Given the description of an element on the screen output the (x, y) to click on. 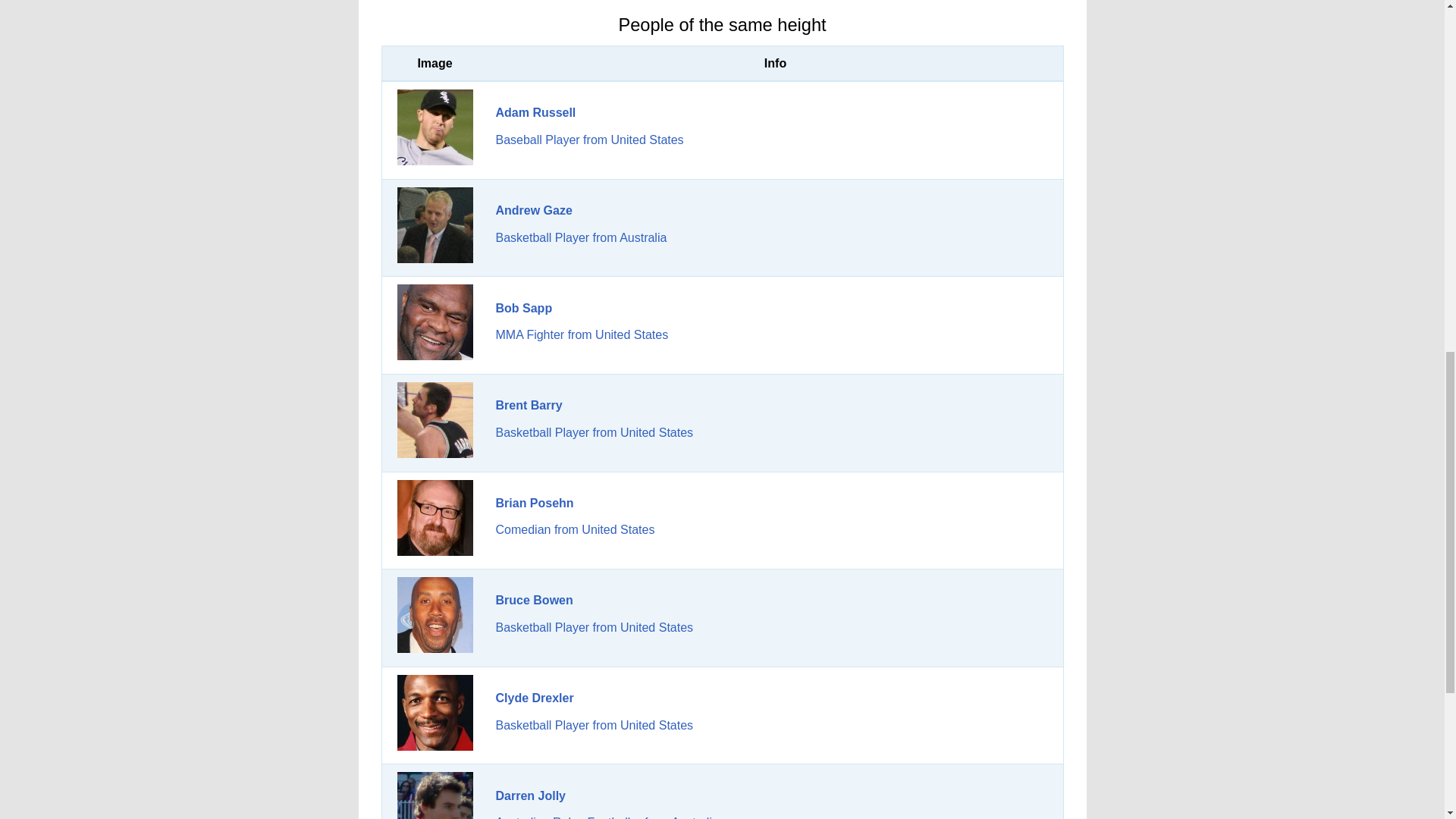
Brent Barry (435, 419)
Clyde Drexler (435, 712)
Baseball Player from United States (590, 139)
Darren Jolly (435, 795)
Comedian from United States (575, 529)
Darren Jolly (531, 795)
Andrew Gaze (534, 210)
Bob Sapp (524, 308)
Basketball Player from Australia (581, 237)
MMA Fighter from United States (582, 334)
Adam Russell (435, 127)
Andrew Gaze (435, 224)
Basketball Player from United States (595, 626)
Brian Posehn (435, 517)
Bob Sapp (435, 322)
